Given the description of an element on the screen output the (x, y) to click on. 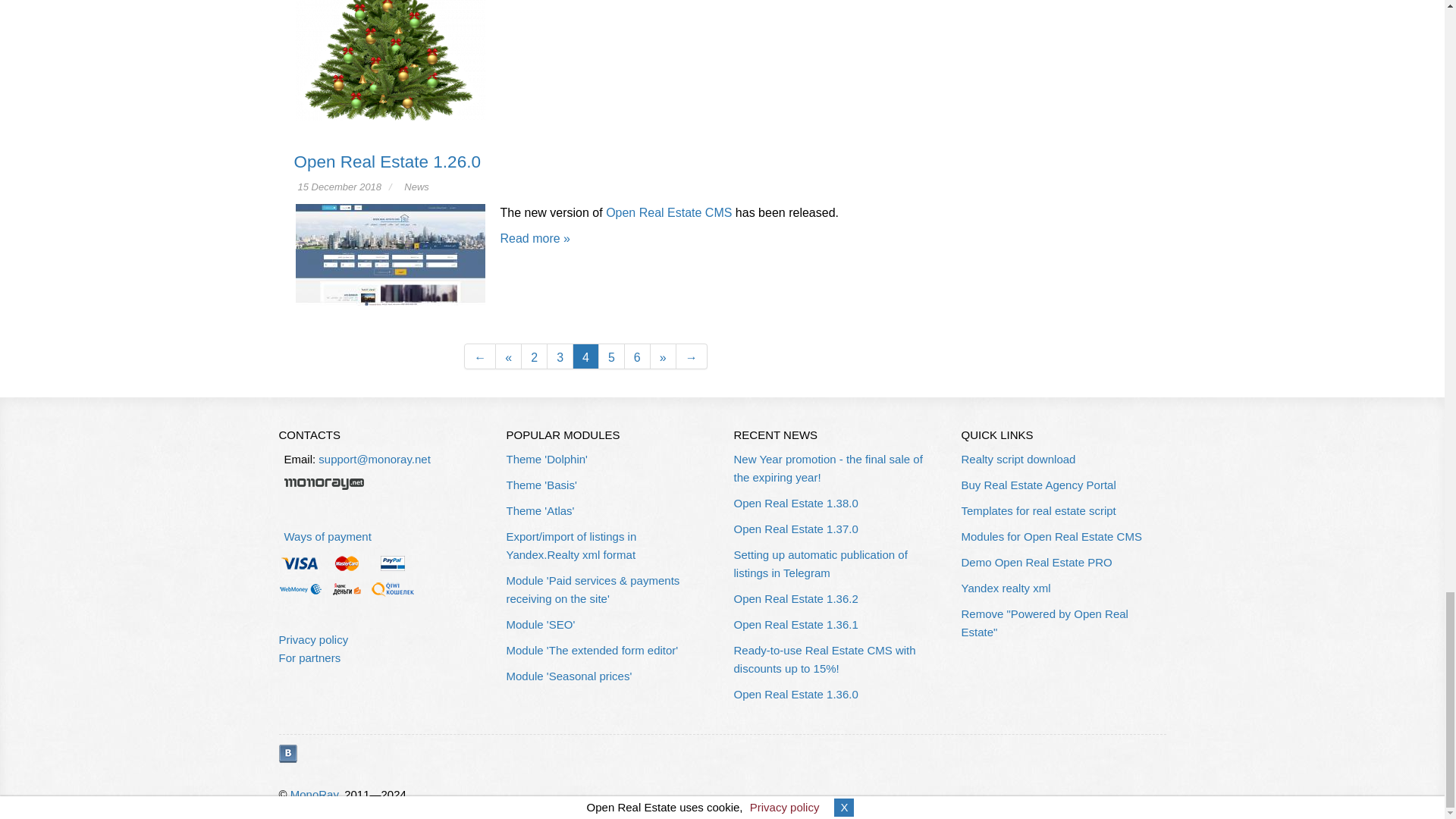
monoray.net (322, 483)
